Given the description of an element on the screen output the (x, y) to click on. 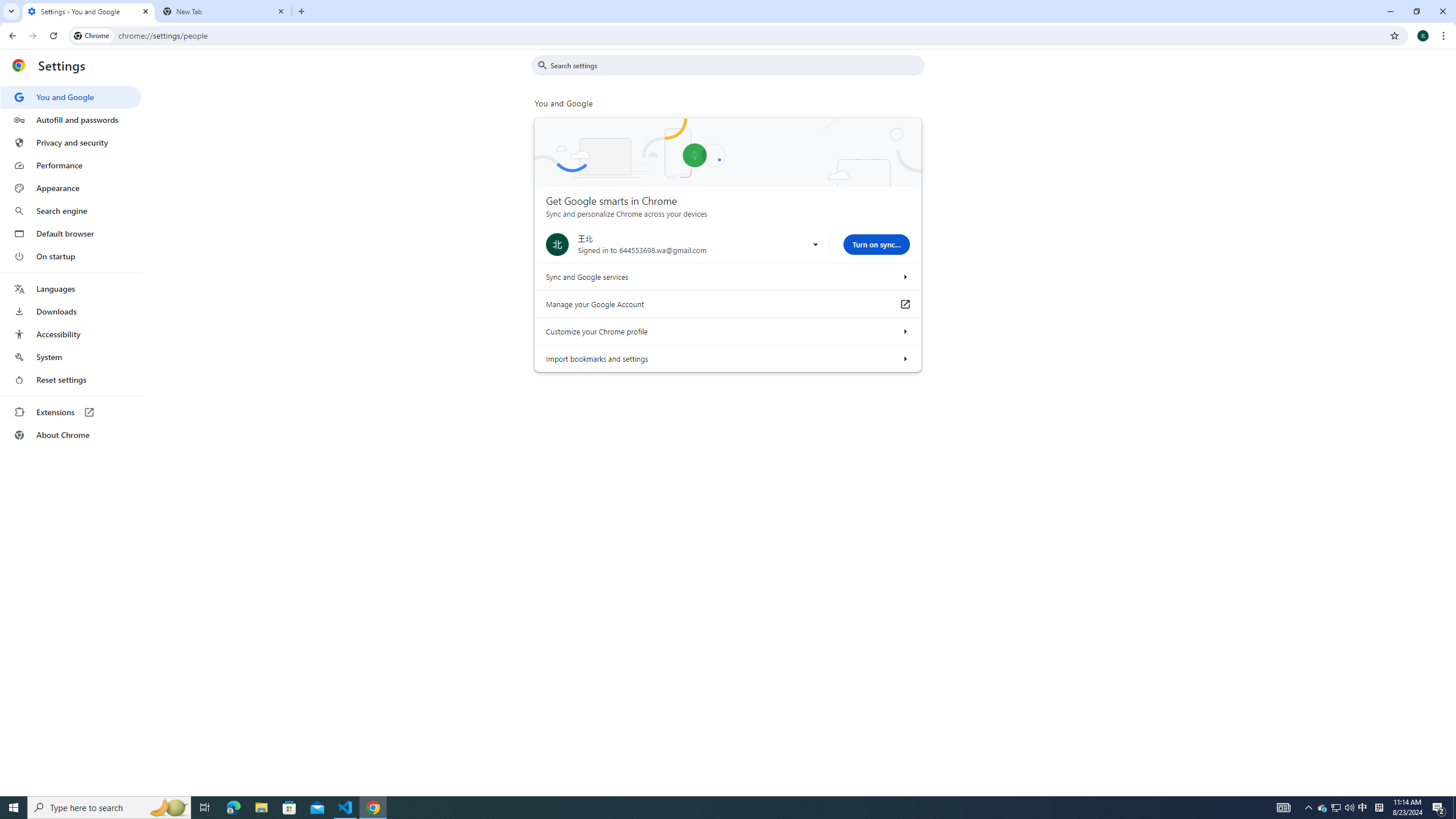
Reset settings (70, 379)
Default browser (70, 233)
Use another account (815, 244)
Privacy and security (70, 142)
On startup (70, 255)
Search engine (70, 210)
